Given the description of an element on the screen output the (x, y) to click on. 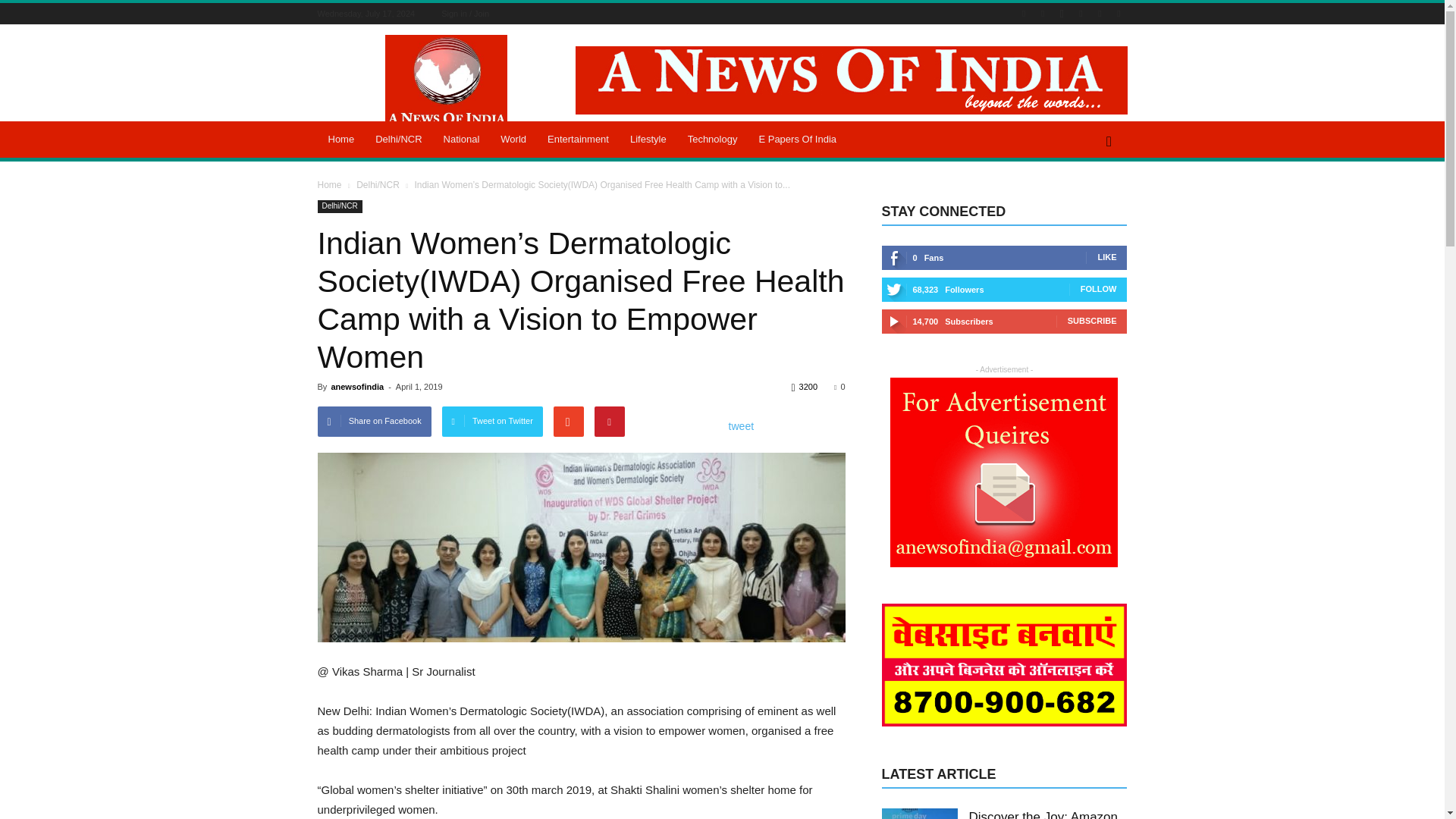
Entertainment (578, 139)
Home (341, 139)
World (513, 139)
IMG-20190401-WA0013 (580, 547)
National (461, 139)
